Given the description of an element on the screen output the (x, y) to click on. 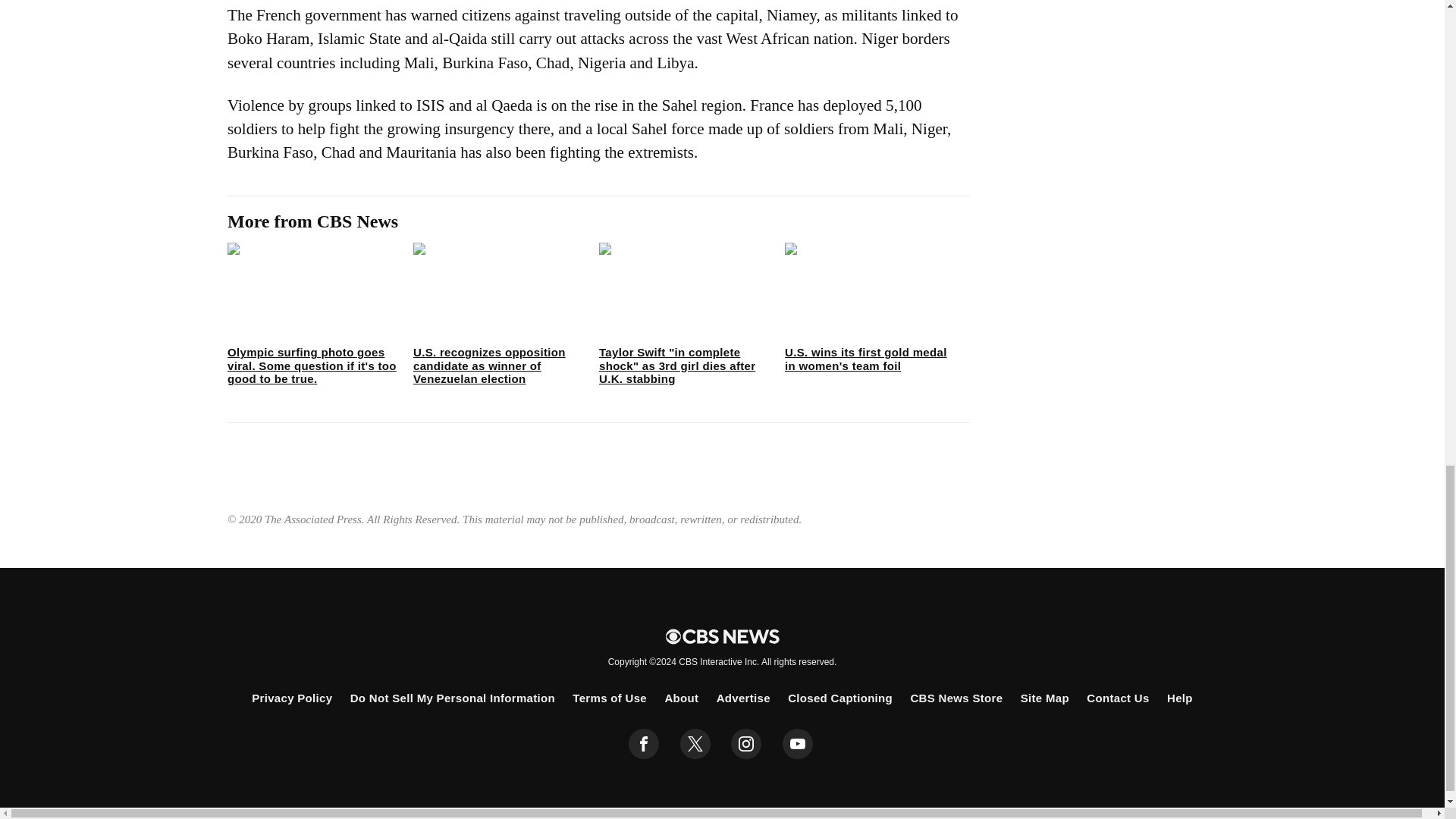
facebook (643, 743)
twitter (694, 743)
youtube (797, 743)
instagram (745, 743)
